Given the description of an element on the screen output the (x, y) to click on. 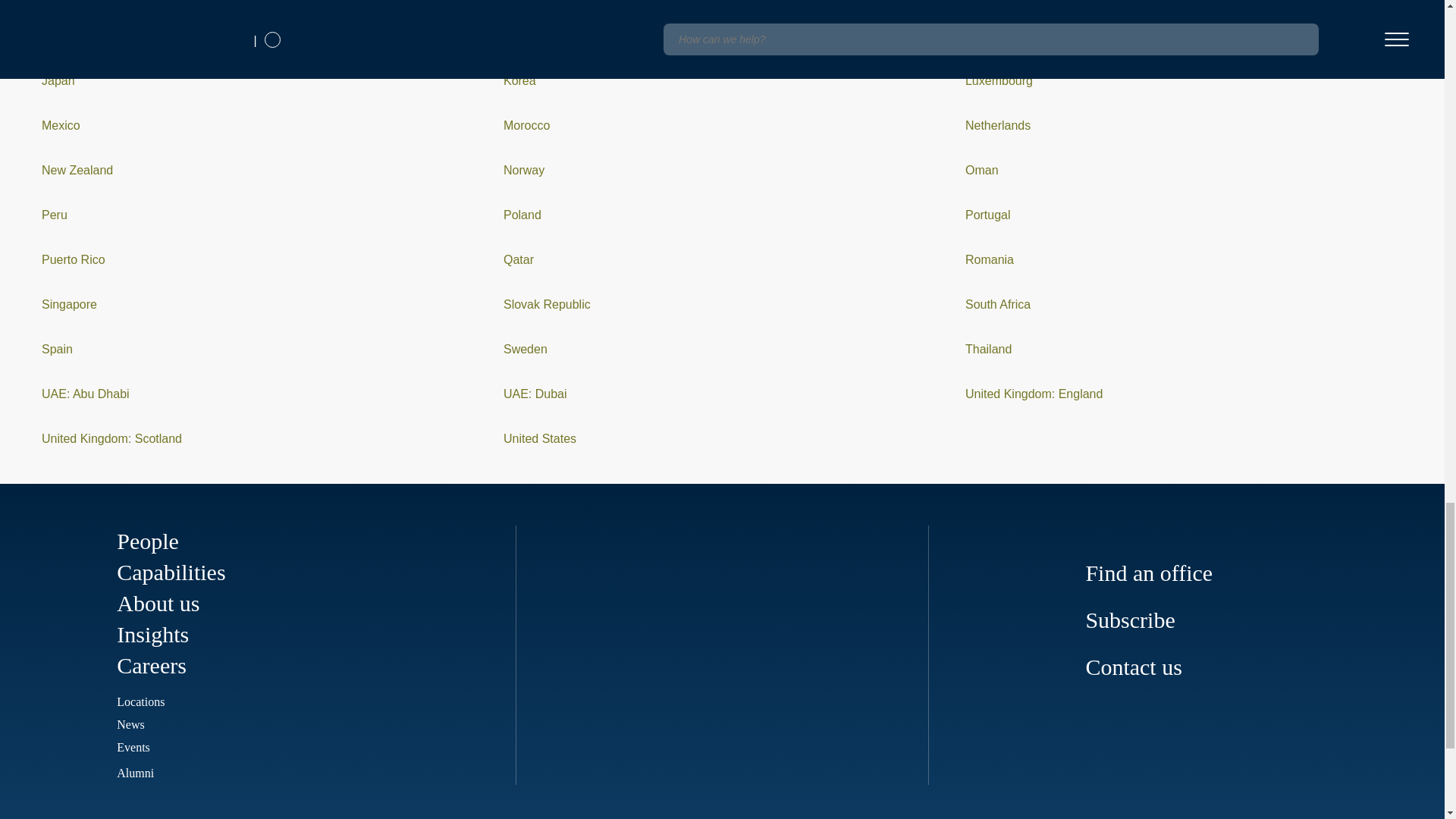
Italy (976, 35)
Luxembourg (998, 80)
Japan (58, 80)
Ireland (521, 35)
Mexico (61, 124)
Hungary (64, 35)
Korea (519, 80)
